Given the description of an element on the screen output the (x, y) to click on. 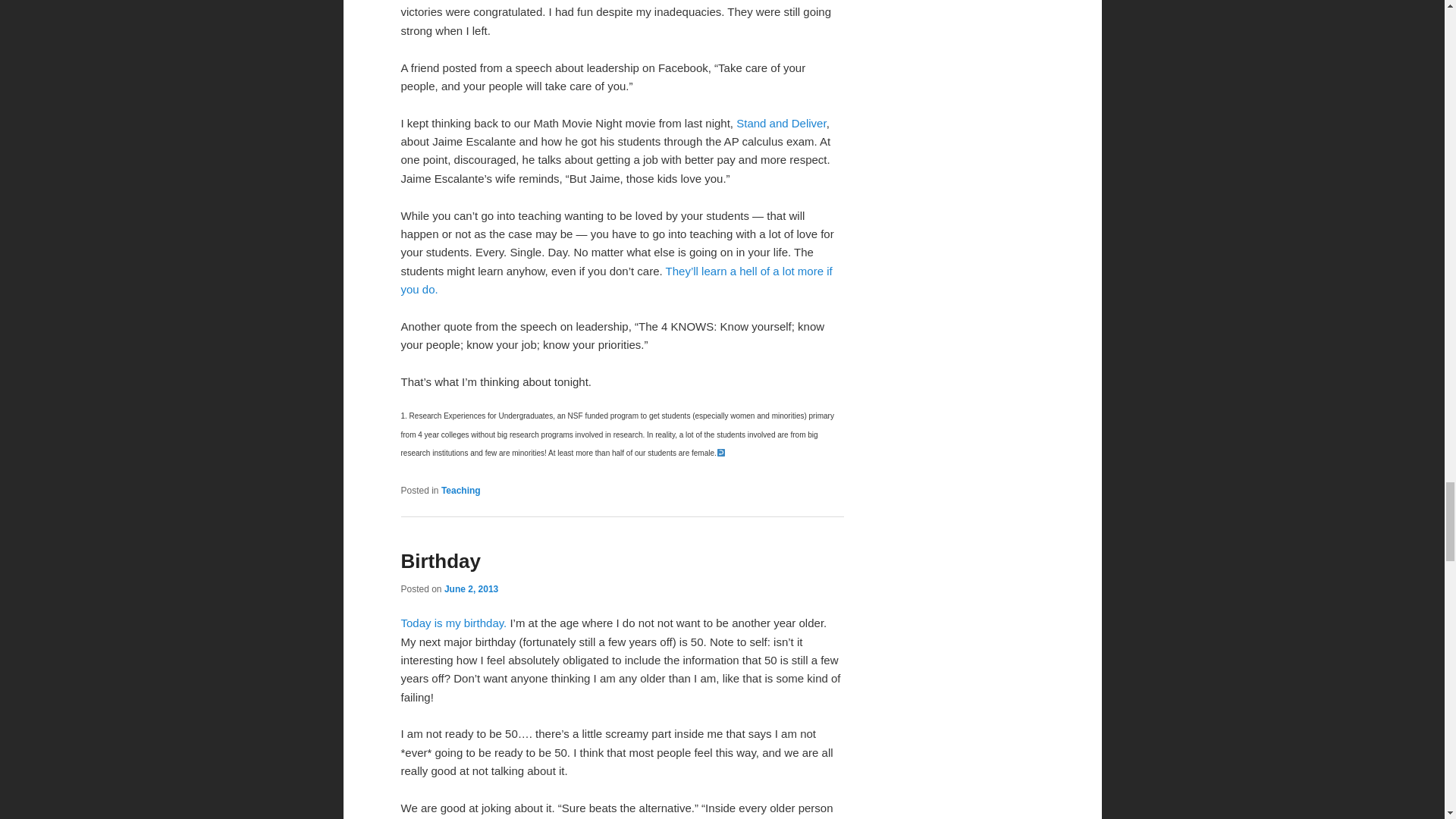
10:50 pm (470, 588)
Birthday (440, 560)
Teaching (460, 490)
Jump back to footnote 1 in the text. (720, 452)
Stand and Deliver (780, 123)
